Given the description of an element on the screen output the (x, y) to click on. 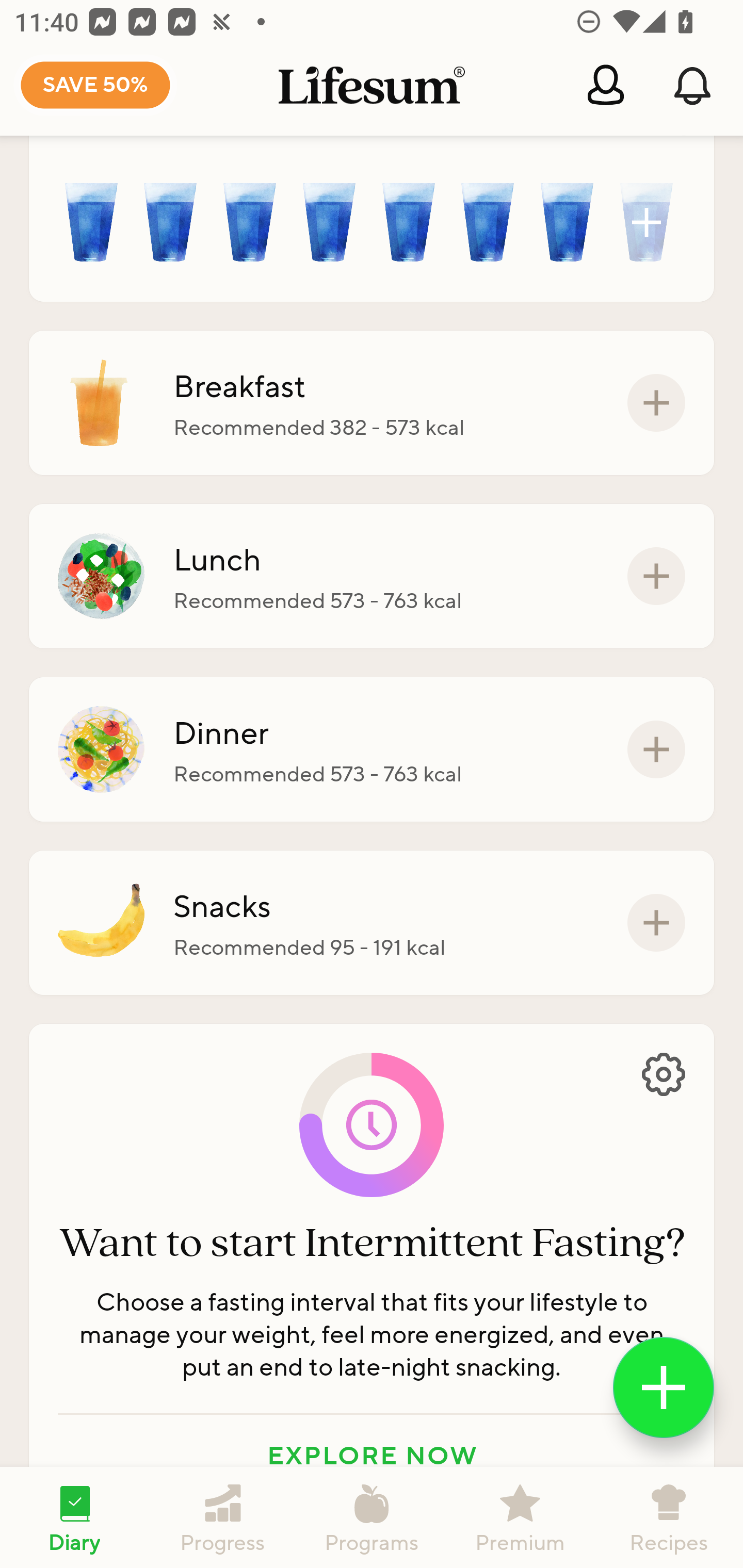
Breakfast Recommended 382 - 573 kcal (371, 402)
Lunch Recommended 573 - 763 kcal (371, 575)
Dinner Recommended 573 - 763 kcal (371, 749)
Snacks Recommended 95 - 191 kcal (371, 922)
EXPLORE NOW (371, 1454)
Progress (222, 1517)
Programs (371, 1517)
Premium (519, 1517)
Recipes (668, 1517)
